Given the description of an element on the screen output the (x, y) to click on. 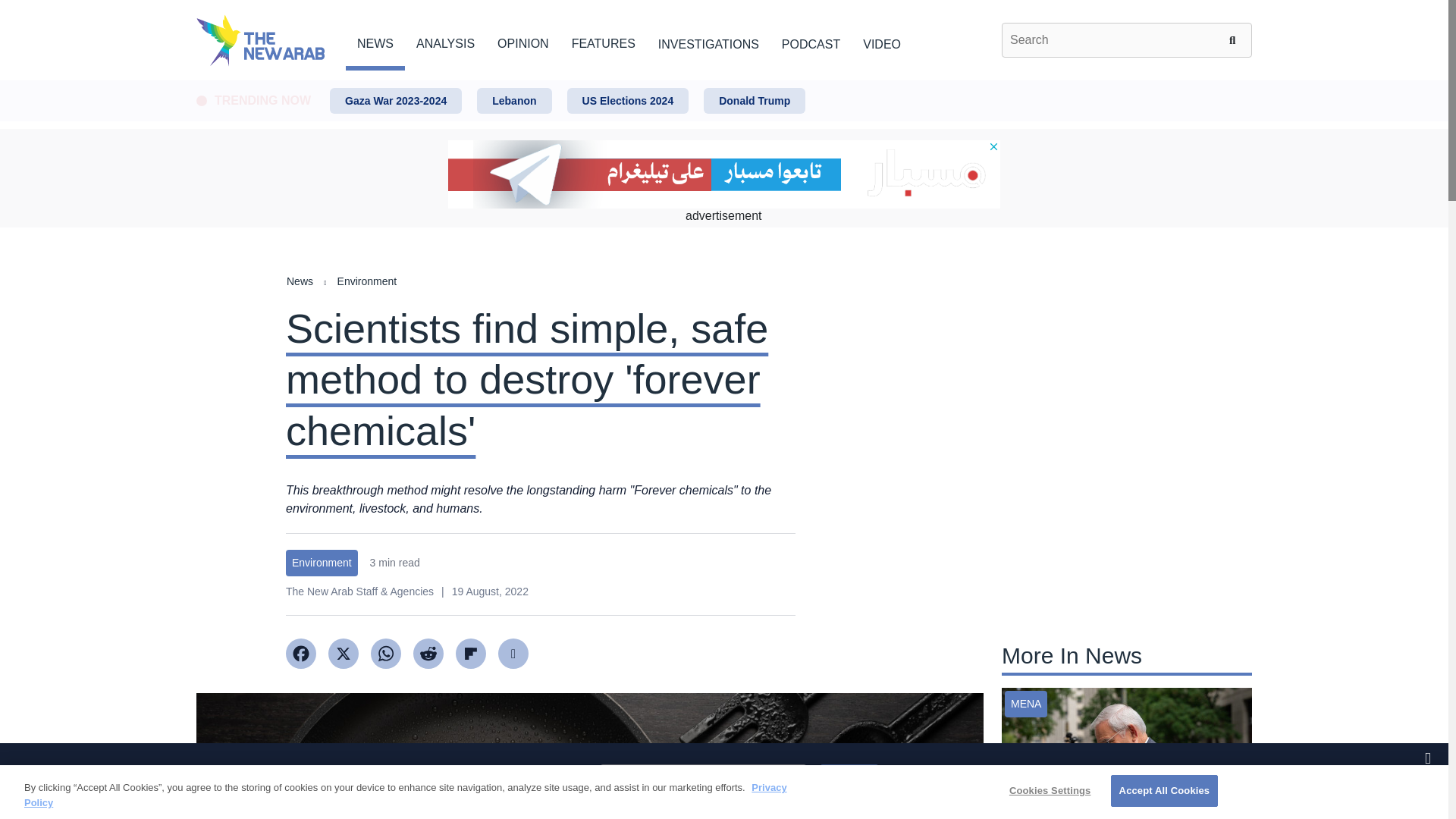
Skip to main content (724, 81)
OPINION (523, 41)
ANALYSIS (445, 41)
NEWS (375, 41)
Search (1234, 39)
